Given the description of an element on the screen output the (x, y) to click on. 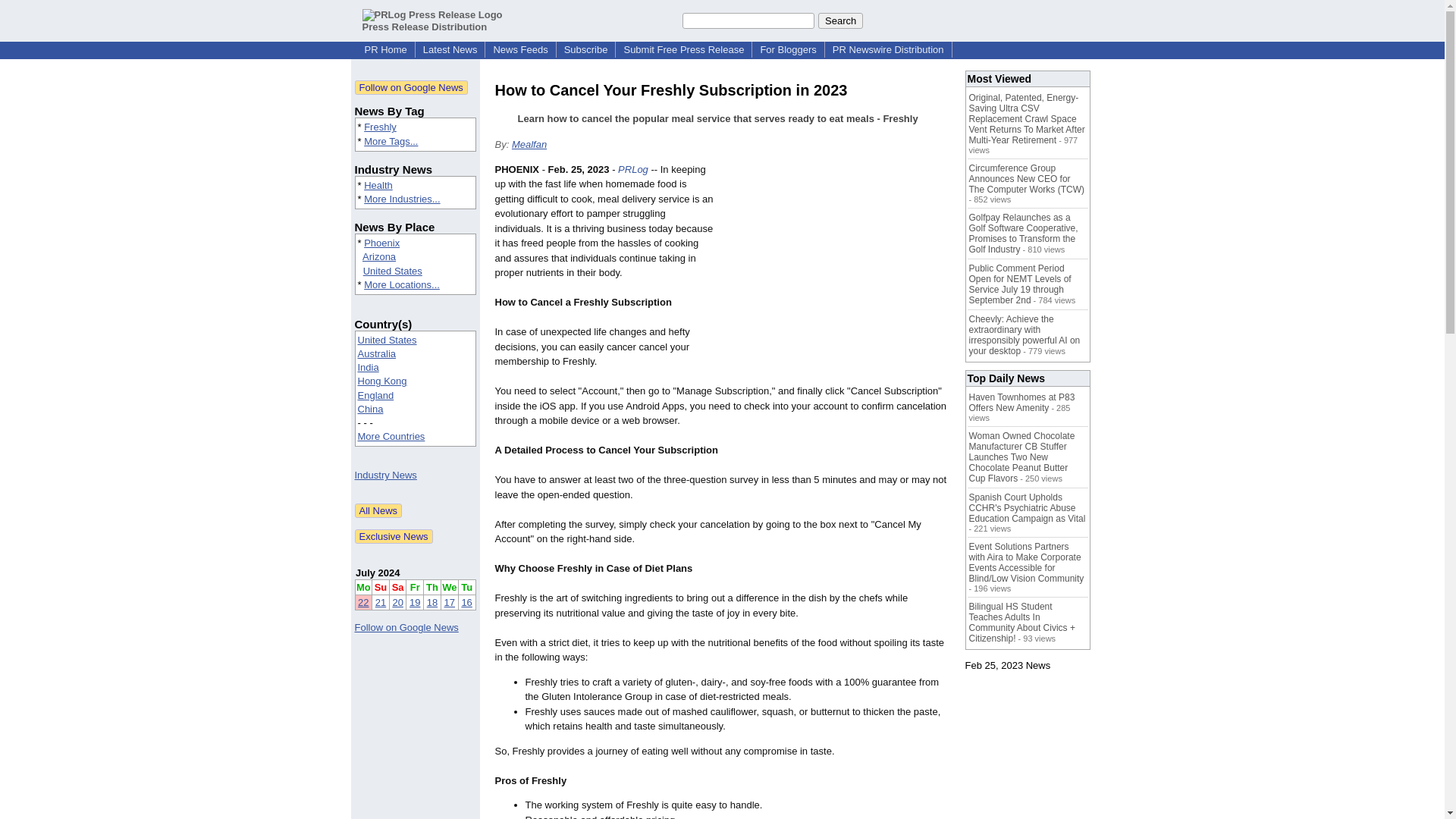
Mealfan (529, 143)
20 (397, 602)
17 (449, 602)
PR Home (385, 49)
22 (363, 602)
All News (379, 510)
Phoenix (381, 242)
19 (414, 602)
Health (378, 184)
Exclusive News (393, 536)
United States (387, 339)
Follow on Google News (411, 87)
For Bloggers (788, 49)
18 (432, 602)
Submit Free Press Release (683, 49)
